Given the description of an element on the screen output the (x, y) to click on. 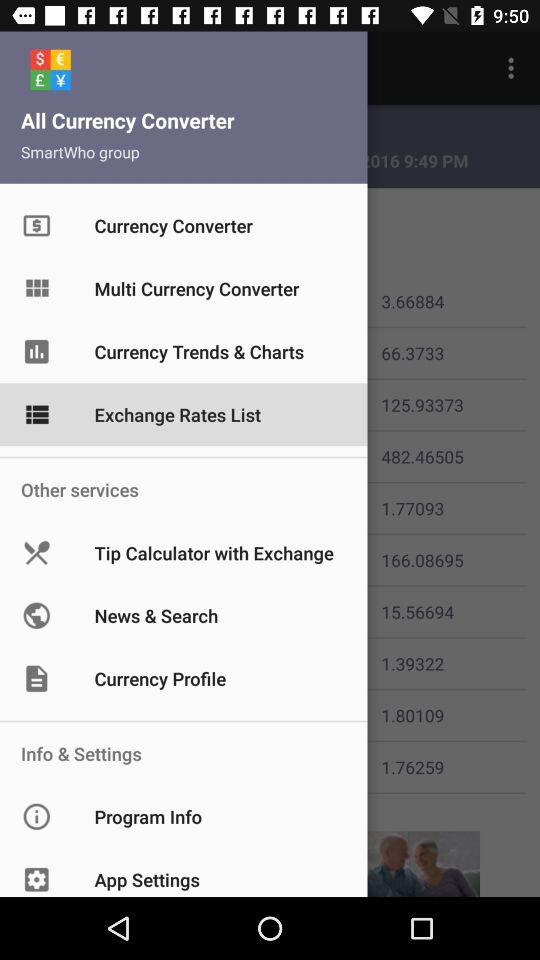
select the forcast titled currency trends charts (53, 353)
select the option which is left to the text exchange rates list (53, 404)
